Given the description of an element on the screen output the (x, y) to click on. 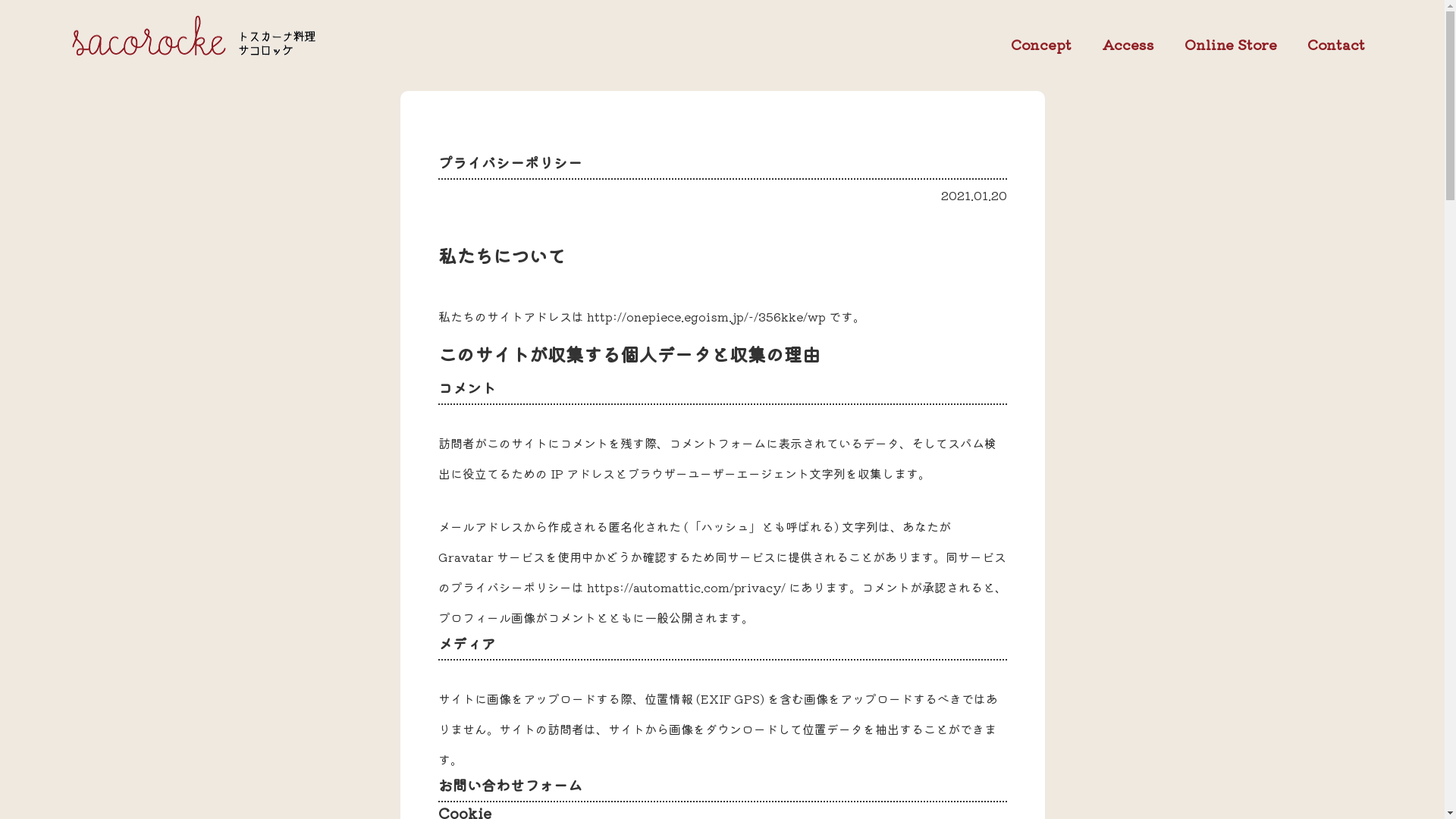
Contact Element type: text (1336, 44)
Concept Element type: text (1040, 44)
Online Store Element type: text (1230, 44)
Access Element type: text (1127, 44)
Access Element type: text (1127, 43)
